Given the description of an element on the screen output the (x, y) to click on. 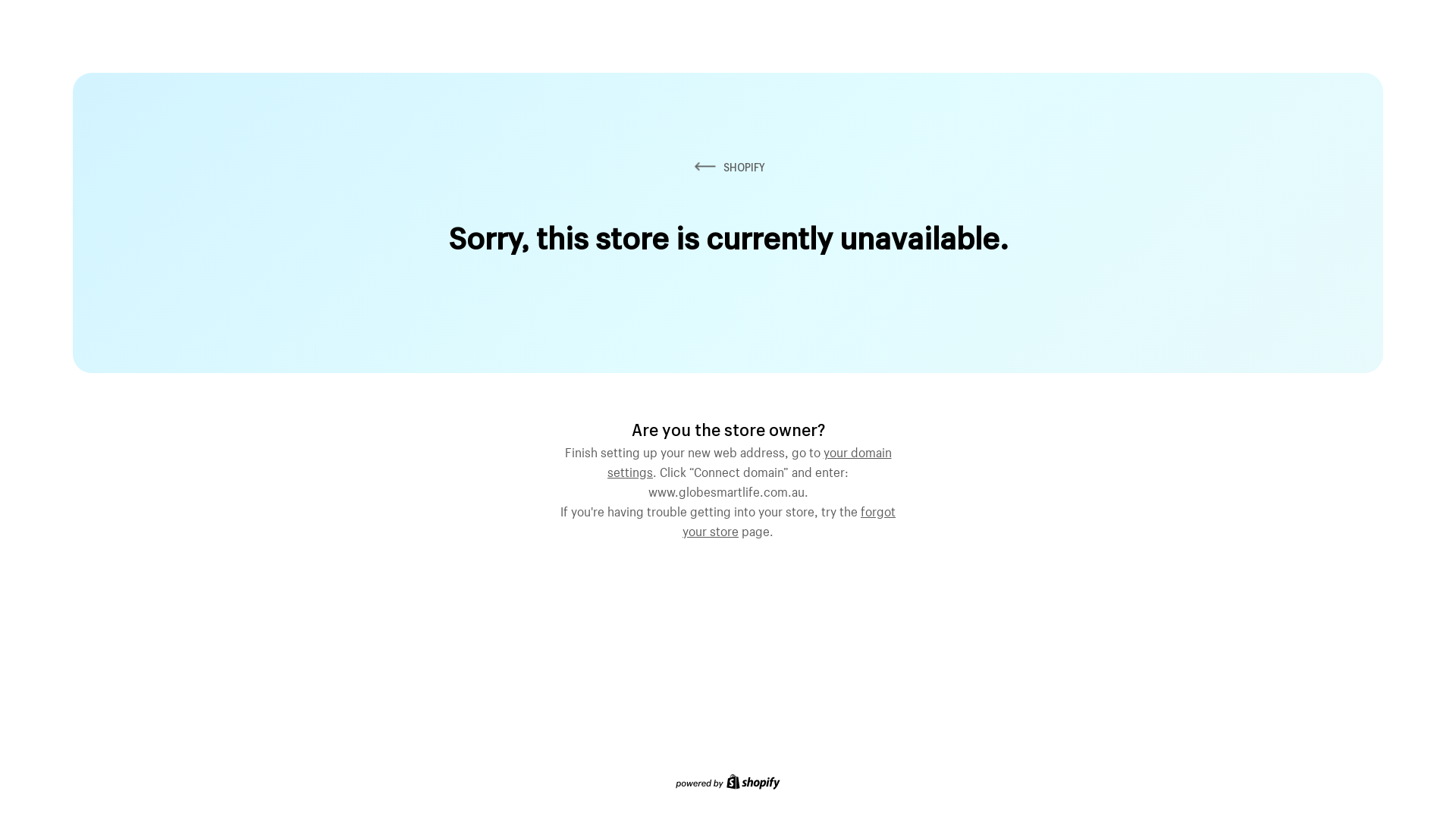
forgot your store Element type: text (788, 519)
your domain settings Element type: text (749, 460)
SHOPIFY Element type: text (727, 167)
